Given the description of an element on the screen output the (x, y) to click on. 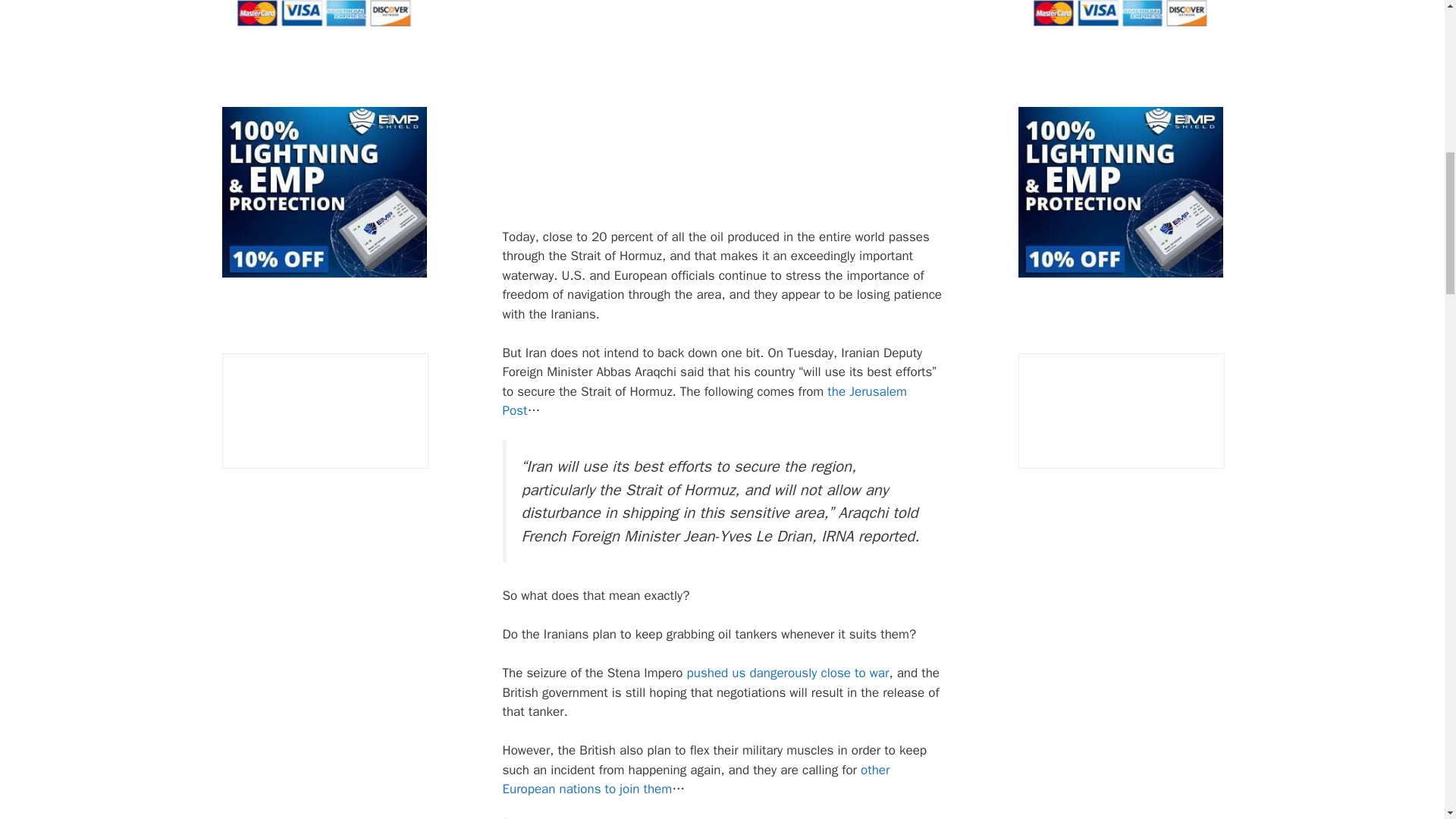
the Jerusalem Post (703, 401)
the Jerusalem Post (703, 401)
pushed us dangerously close to war (788, 672)
Advertisement (756, 113)
other European nations to join them (695, 779)
pushed us dangerously close to war (788, 672)
other European nations to join them (695, 779)
